Given the description of an element on the screen output the (x, y) to click on. 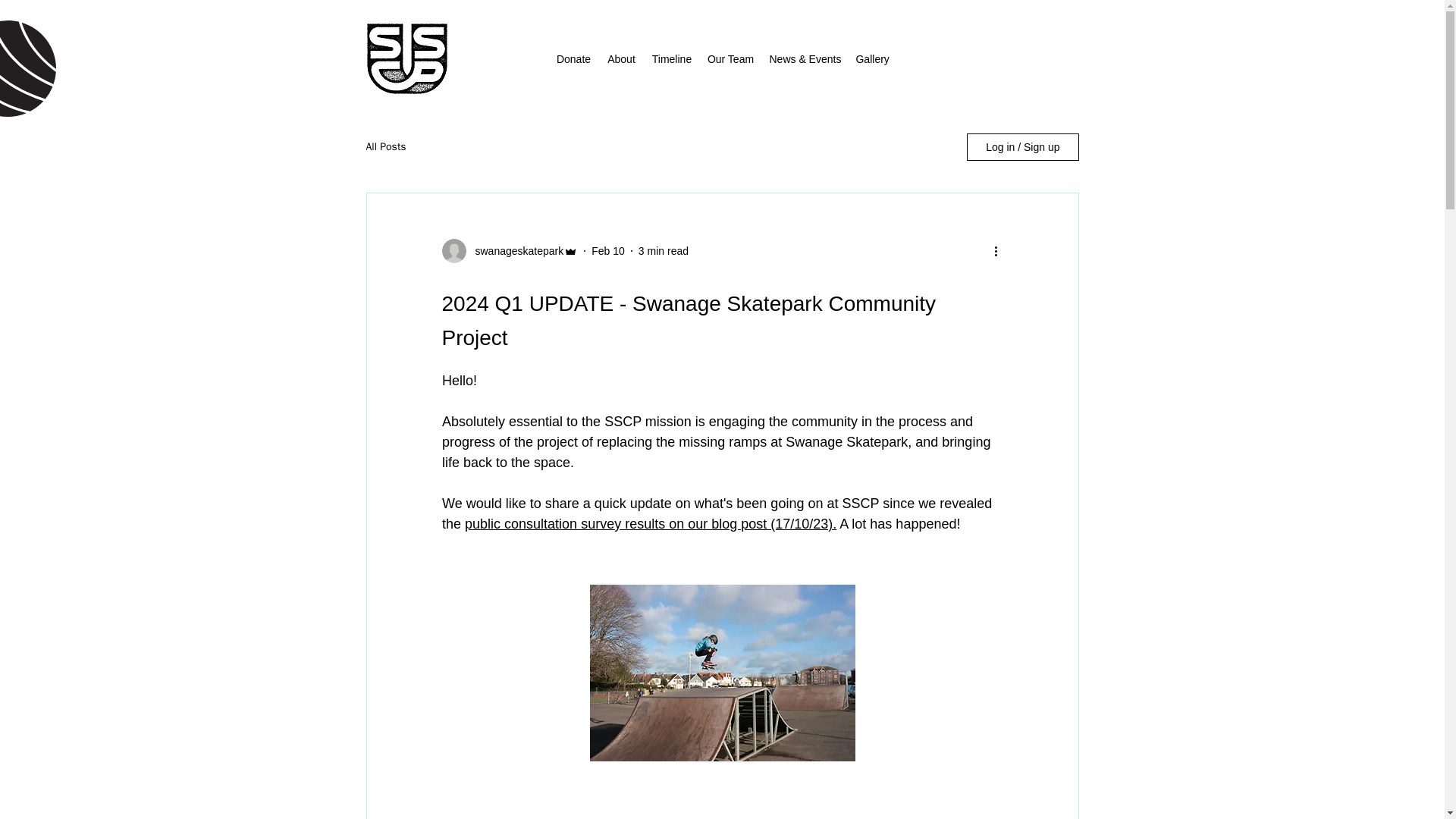
3 min read (663, 250)
About (620, 58)
Gallery (871, 58)
Donate (573, 58)
Feb 10 (607, 250)
All Posts (385, 146)
SSCP Logo.png (407, 58)
Timeline (670, 58)
swanageskatepark (514, 250)
Our Team (729, 58)
